Given the description of an element on the screen output the (x, y) to click on. 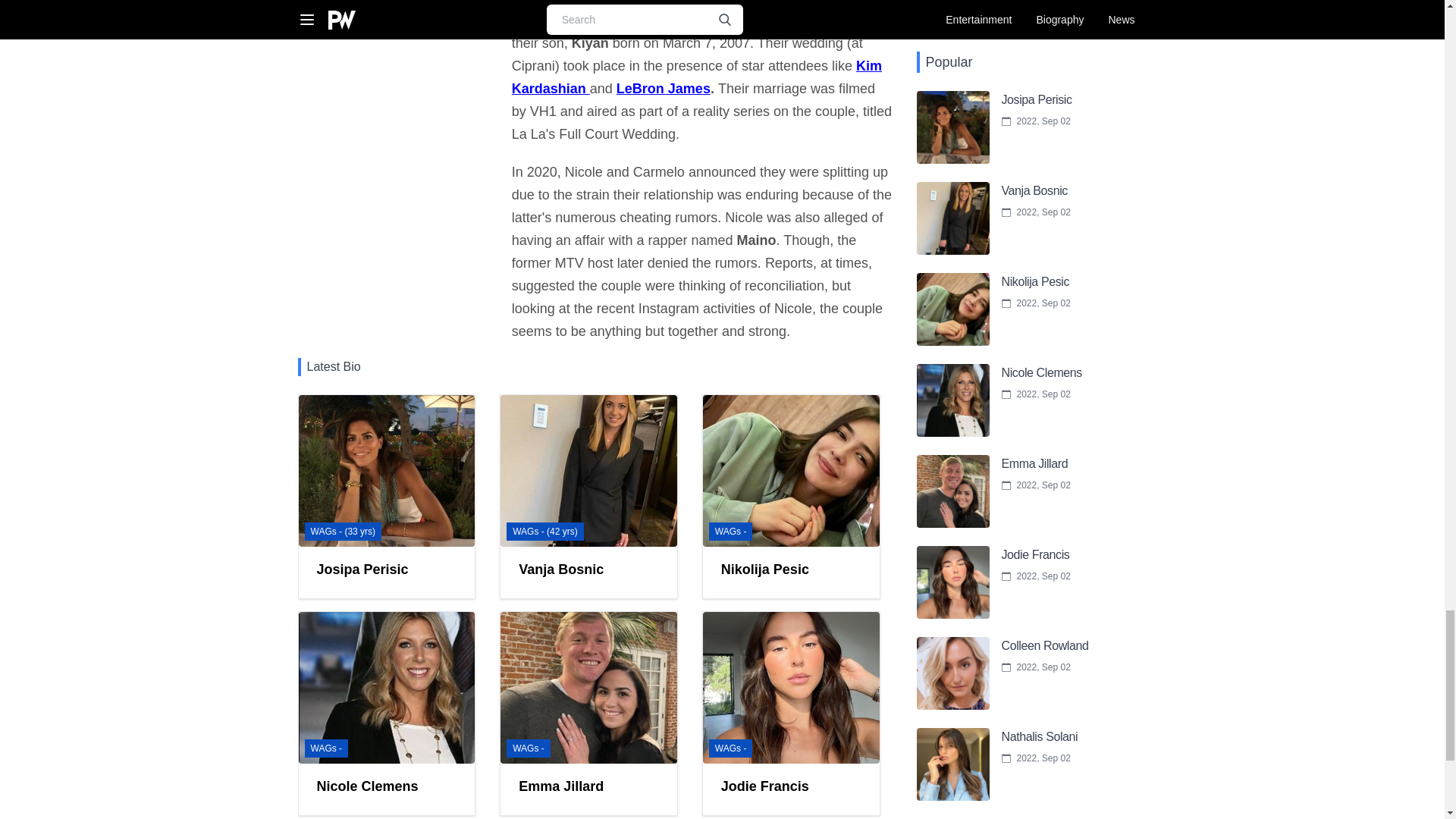
LeBron James (662, 88)
Kim Kardashian (697, 77)
